Given the description of an element on the screen output the (x, y) to click on. 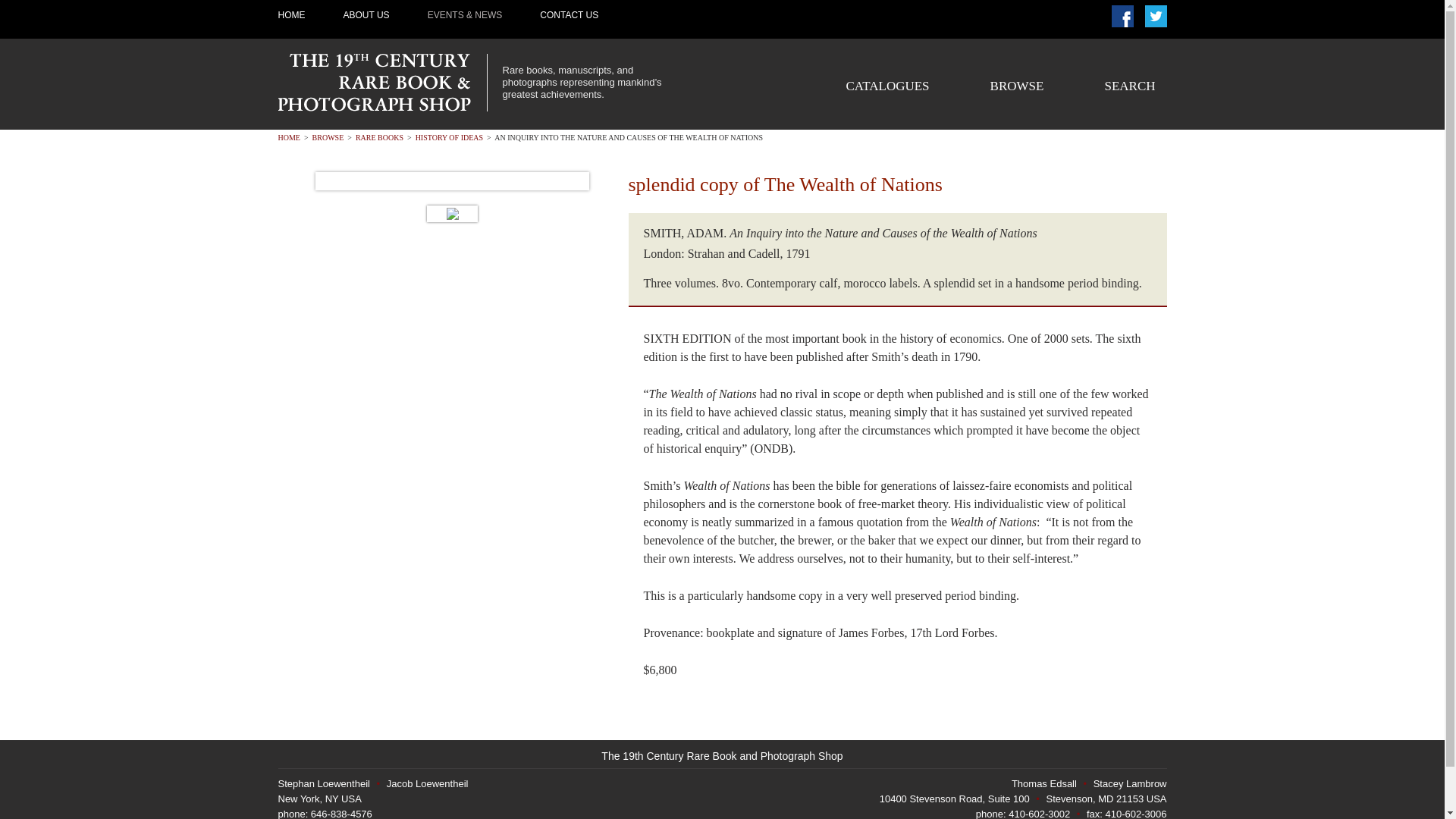
HOME (288, 137)
HISTORY OF IDEAS (448, 137)
ABOUT US (365, 15)
BROWSE (328, 137)
Go to the Rare Books Book Category archives. (379, 137)
Go to The 19th Century Rare Book and Photograph Shop. (288, 137)
Go to the History of Ideas Book Category archives. (448, 137)
BROWSE (1016, 85)
CONTACT US (569, 15)
RARE BOOKS (379, 137)
SEARCH (1128, 85)
CATALOGUES (886, 85)
HOME (291, 15)
Go to Browse. (328, 137)
